Given the description of an element on the screen output the (x, y) to click on. 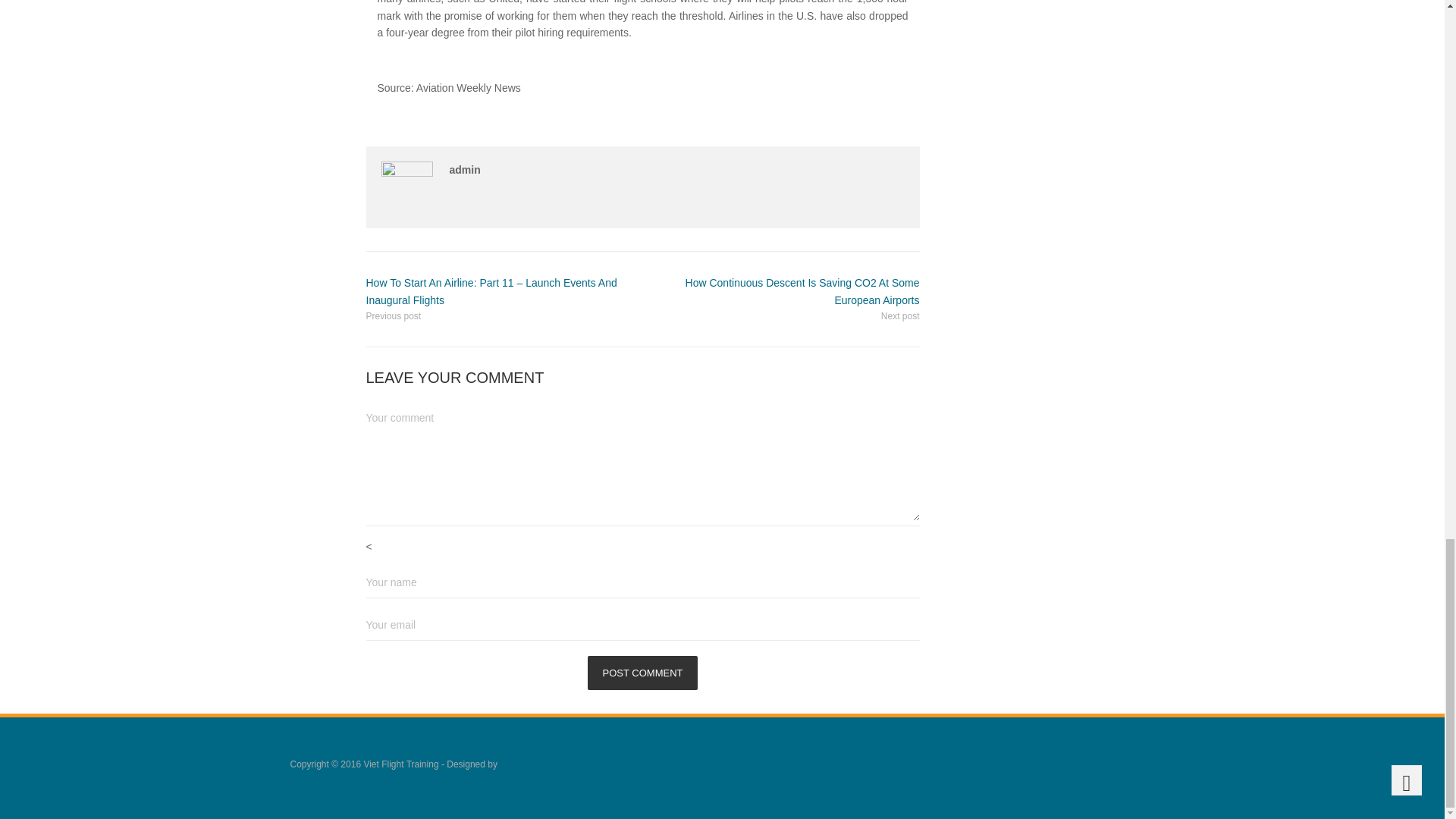
Post comment (643, 673)
Post comment (643, 673)
admin (464, 170)
